Given the description of an element on the screen output the (x, y) to click on. 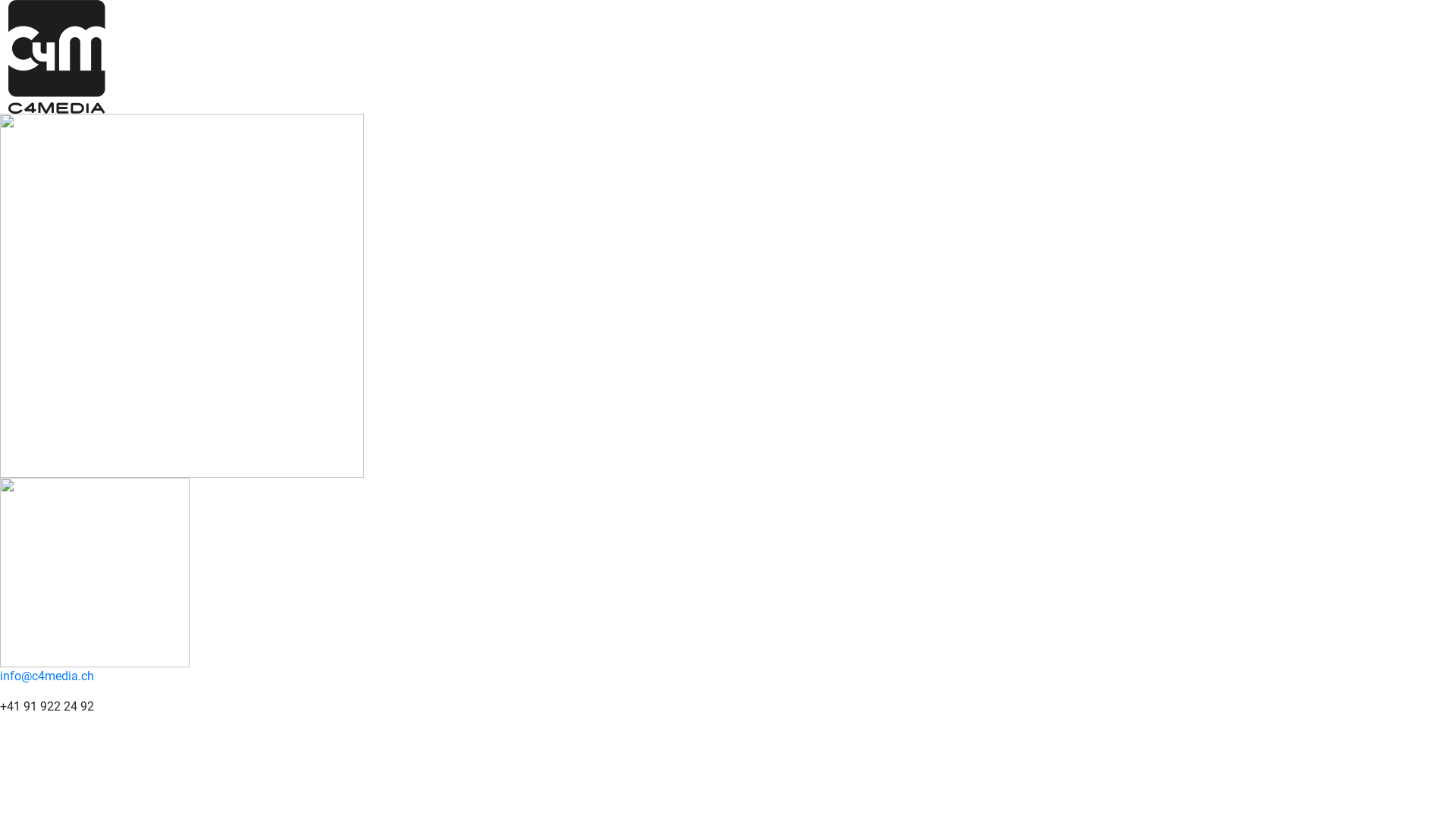
C4Media-logo Element type: hover (56, 56)
info@c4media.ch Element type: text (47, 675)
